Given the description of an element on the screen output the (x, y) to click on. 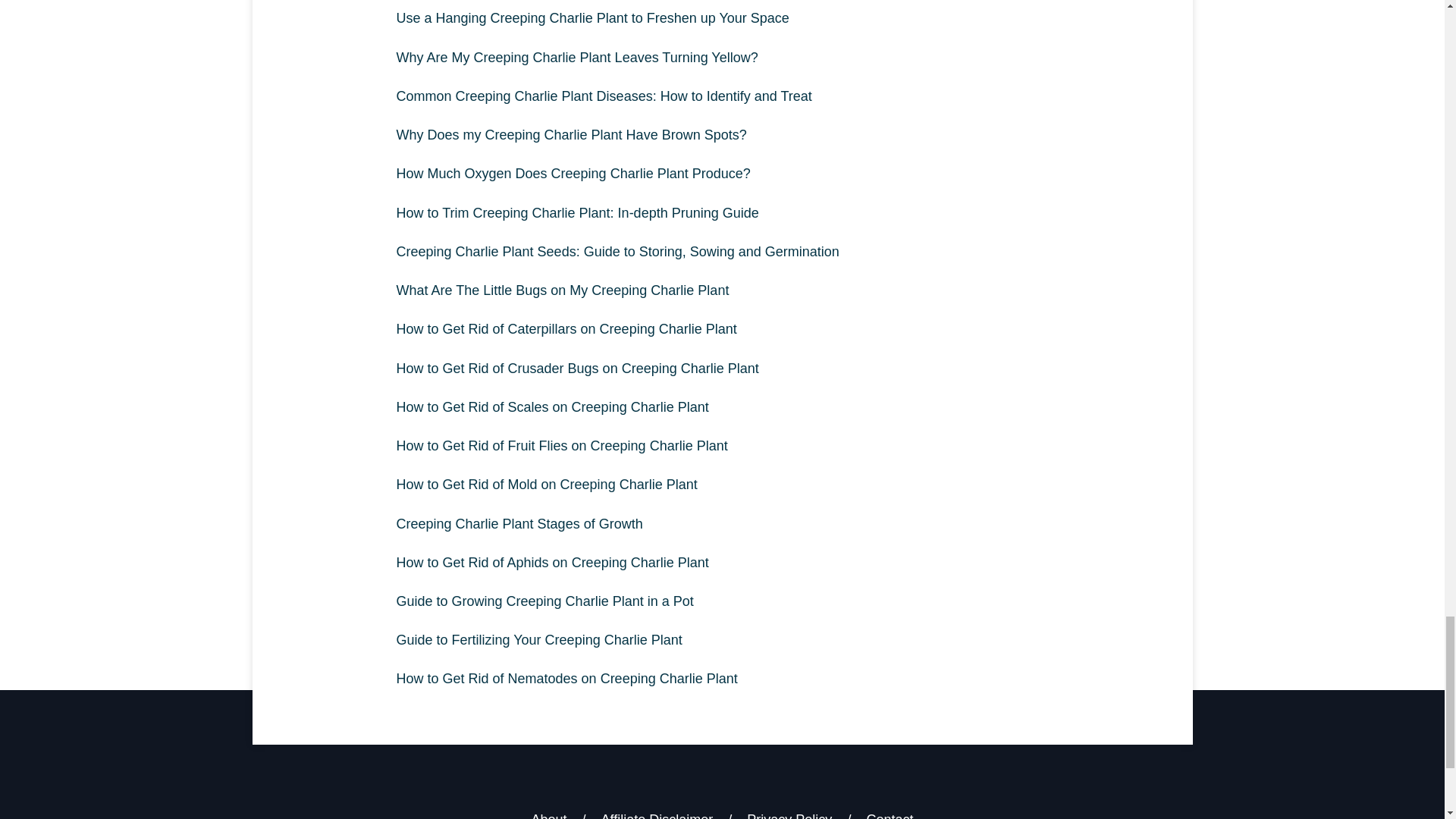
Guide to Growing Creeping Charlie Plant in a Pot (722, 601)
How to Get Rid of Mold on Creeping Charlie Plant (722, 485)
How to Get Rid of Caterpillars on Creeping Charlie Plant (722, 329)
How to Trim Creeping Charlie Plant: In-depth Pruning Guide (722, 213)
What Are The Little Bugs on My Creeping Charlie Plant (722, 290)
Guide to Fertilizing Your Creeping Charlie Plant (722, 640)
Creeping Charlie Plant Stages of Growth (722, 524)
How Much Oxygen Does Creeping Charlie Plant Produce? (722, 173)
How to Get Rid of Fruit Flies on Creeping Charlie Plant (722, 446)
Why Does my Creeping Charlie Plant Have Brown Spots? (722, 135)
How to Get Rid of Aphids on Creeping Charlie Plant (722, 562)
How to Get Rid of Crusader Bugs on Creeping Charlie Plant (722, 368)
